Given the description of an element on the screen output the (x, y) to click on. 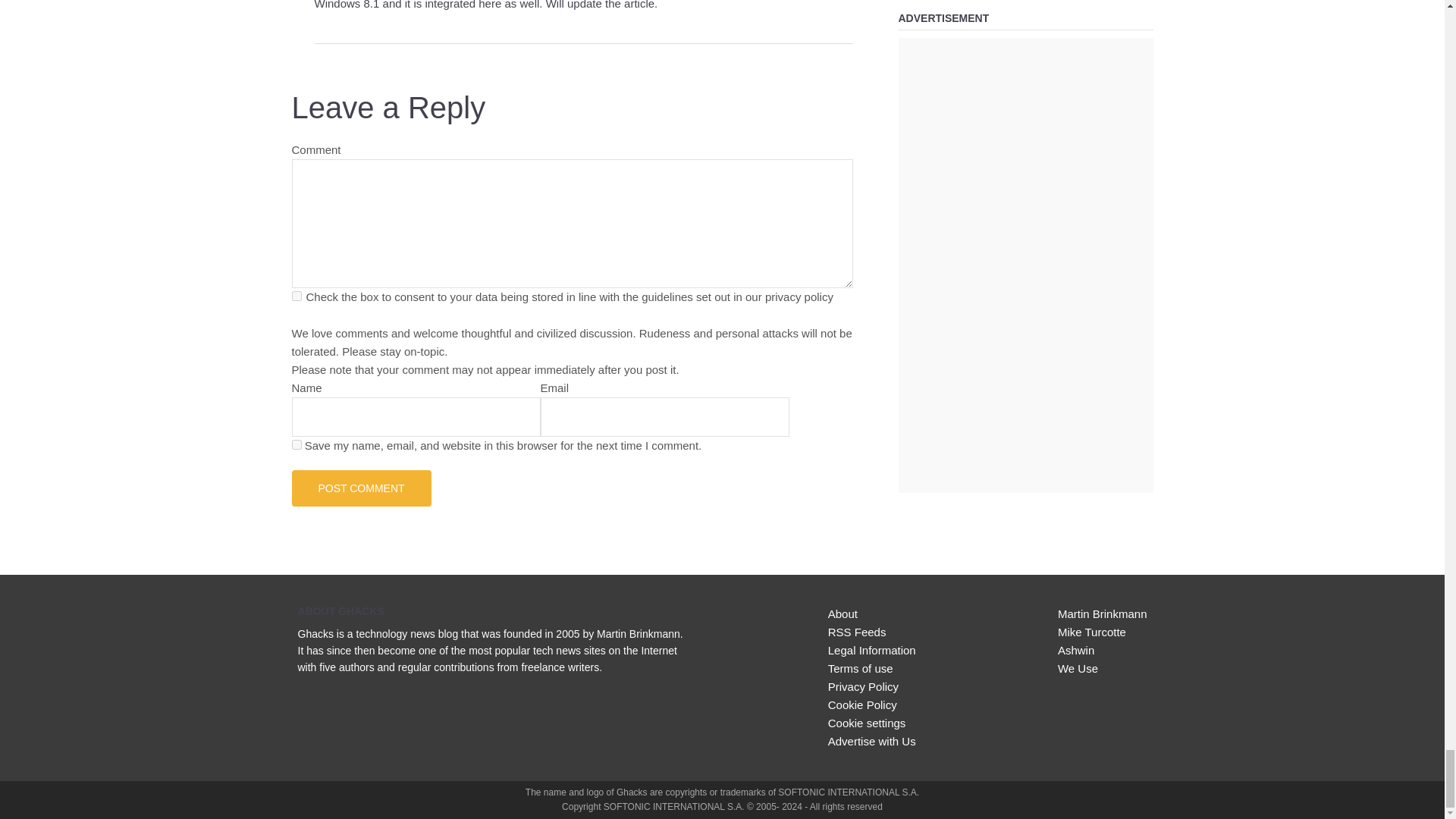
Post Comment (360, 488)
privacy-key (296, 296)
yes (296, 444)
